Given the description of an element on the screen output the (x, y) to click on. 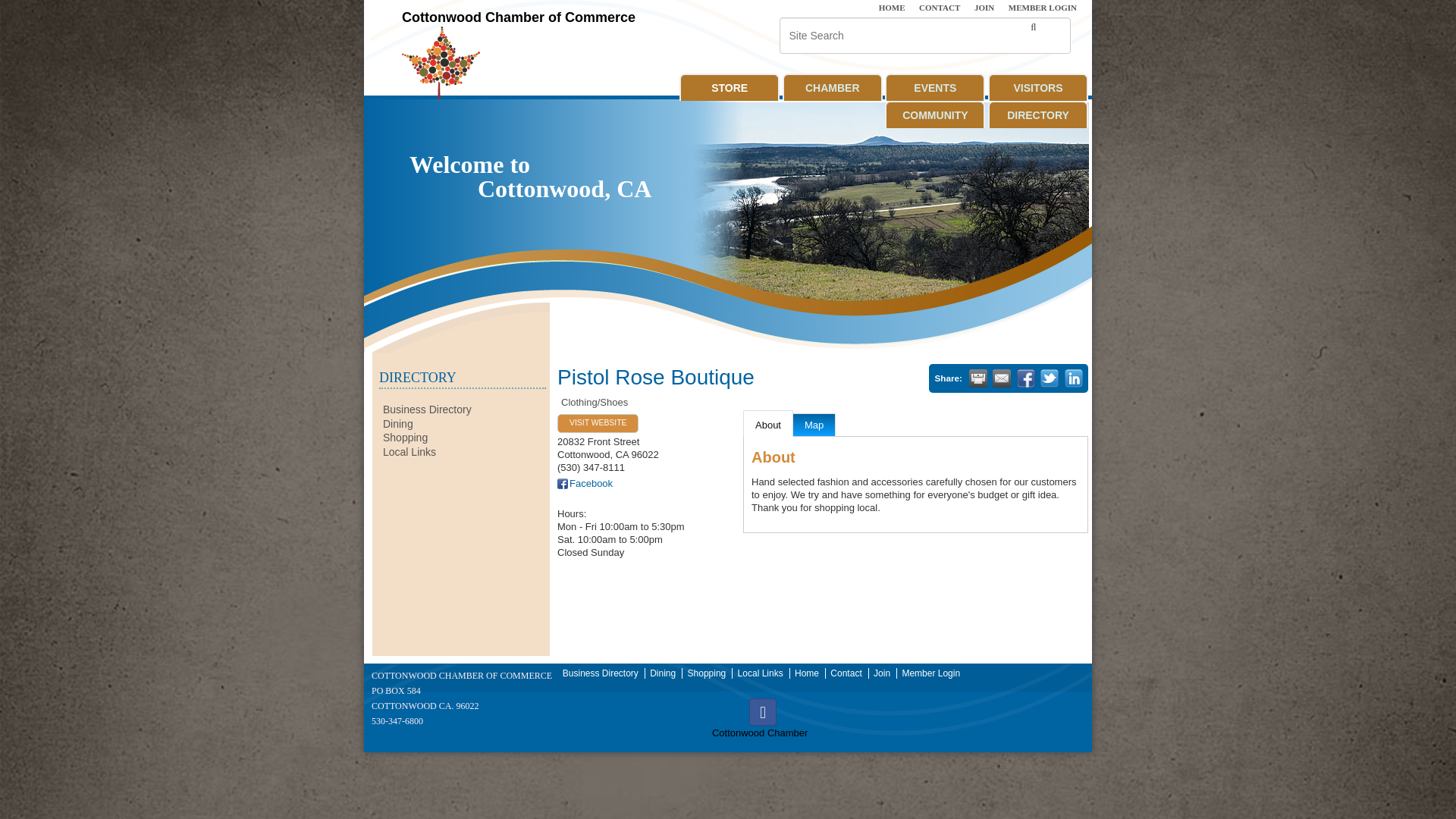
COMMUNITY (935, 113)
DIRECTORY (1037, 113)
Business Directory (426, 409)
EVENTS (935, 86)
Cottonwood Chamber (762, 711)
Share on LinkedIn (1073, 378)
Share on Facebook (1025, 378)
CHAMBER (832, 86)
Print this page (978, 378)
Visit the website of Pistol Rose Boutique (598, 423)
Share by Email (1001, 378)
JOIN (986, 7)
CONTACT (941, 7)
VISITORS (1037, 86)
Cottonwood Chamber of Commerce (517, 18)
